Given the description of an element on the screen output the (x, y) to click on. 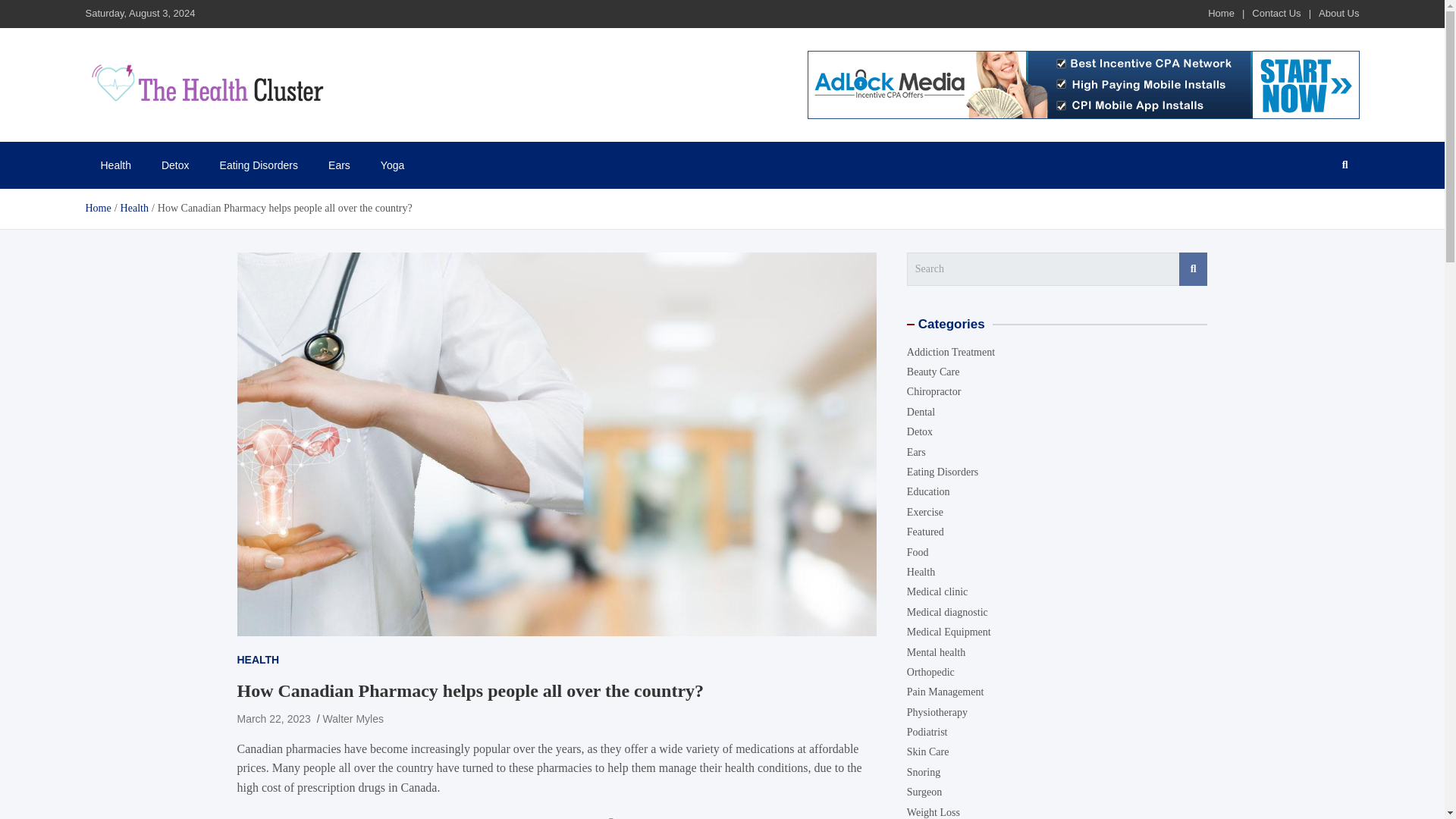
Home (1221, 12)
The Health Cluster (183, 131)
Food (917, 552)
Medical Equipment (949, 632)
Ears (916, 451)
Exercise (925, 511)
Detox (176, 165)
Home (97, 207)
Contact Us (1276, 12)
Ears (339, 165)
Chiropractor (933, 391)
March 22, 2023 (272, 718)
About Us (1338, 12)
Medical diagnostic (947, 612)
Yoga (392, 165)
